Given the description of an element on the screen output the (x, y) to click on. 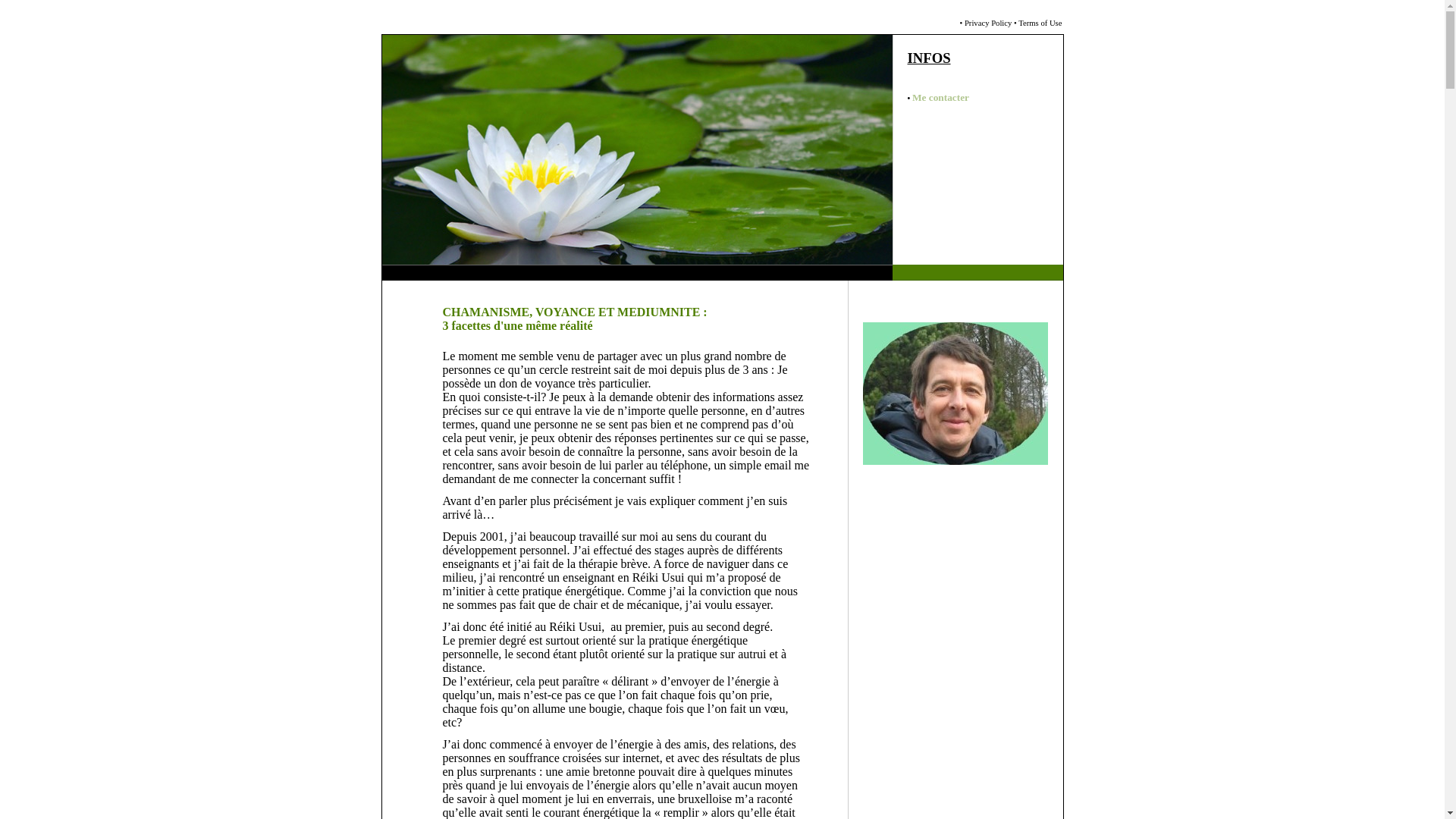
 Me contacter Element type: text (939, 98)
